Given the description of an element on the screen output the (x, y) to click on. 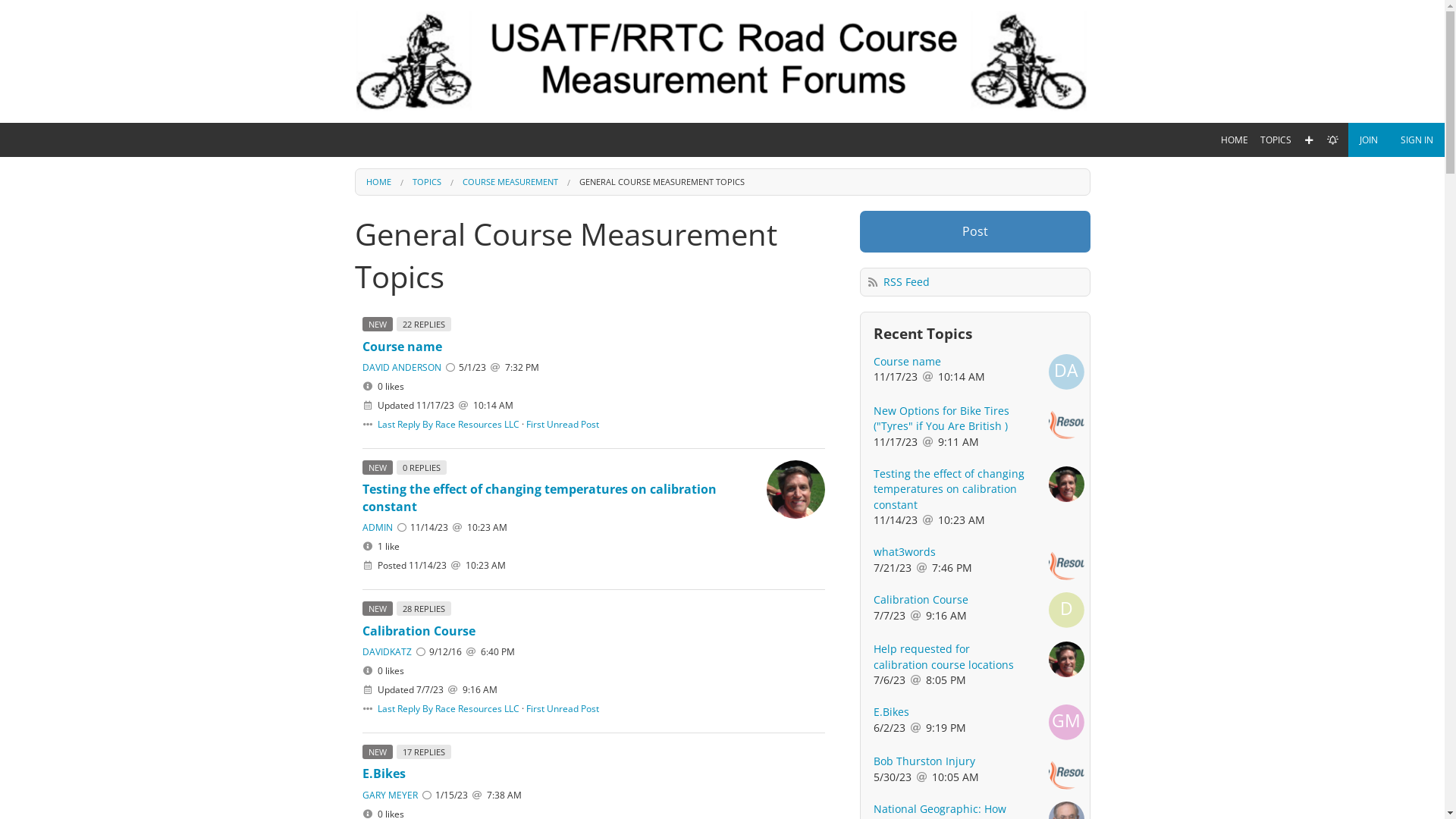
USATF ONLINE COURSE CERTIFICATION SYSTEM Element type: text (1275, 223)
ALL TOPICS Element type: text (1275, 196)
E.Bikes Element type: text (383, 773)
JOIN Element type: text (1368, 139)
New Options for Bike Tires ("Tyres" if You Are British ) Element type: text (941, 418)
First Unread Post Element type: text (562, 423)
Calibration Course Element type: text (920, 599)
MISCELLANEOUS TOPICS Element type: text (1275, 384)
Calibration Course Element type: text (418, 630)
First Unread Post Element type: text (562, 708)
COURSE MEASUREMENT Element type: text (510, 181)
CROSS-COUNTRY COURSES Element type: text (1275, 330)
GARY MEYER Element type: text (389, 794)
D Element type: text (1066, 609)
E.Bikes Element type: text (891, 711)
THE NEW JONES COUNTER MODEL JR Element type: text (1275, 437)
Admin Element type: hover (795, 489)
COURSE MEASUREMENT Element type: text (1275, 251)
Last Reply By Race Resources LLC Element type: text (448, 423)
NEW Element type: text (379, 323)
DAVID ANDERSON Element type: text (401, 366)
NEWER MEASURER QUESTIONS AND INFORMATION Element type: text (1275, 277)
Help requested for calibration course locations Element type: text (943, 656)
DAVIDKATZ Element type: text (386, 651)
Post Element type: text (974, 231)
DIRECTORY Element type: text (1275, 169)
Course name Element type: text (907, 361)
BULLETIN BOARD ADMINISTRATION Element type: text (1275, 411)
RACE ADMINISTRATION Element type: text (1275, 357)
GM Element type: text (1066, 722)
what3words Element type: text (904, 551)
TOPICS Element type: text (426, 181)
DA Element type: text (1066, 371)
Last Reply By Race Resources LLC Element type: text (448, 708)
ADMIN Element type: text (377, 526)
NEW Element type: text (379, 608)
HOME Element type: text (1234, 139)
HOME Element type: text (377, 181)
TOPICS Element type: text (1275, 139)
Course name Element type: text (402, 346)
RSS Feed Element type: text (906, 281)
Bob Thurston Injury Element type: text (924, 760)
COURSE CERTIFICATION DISCUSSION AREA Element type: text (1275, 304)
SIGN IN Element type: text (1416, 139)
NEW Element type: text (379, 467)
Road Course Measurement Forums Element type: hover (722, 61)
NEW Element type: text (379, 751)
